Given the description of an element on the screen output the (x, y) to click on. 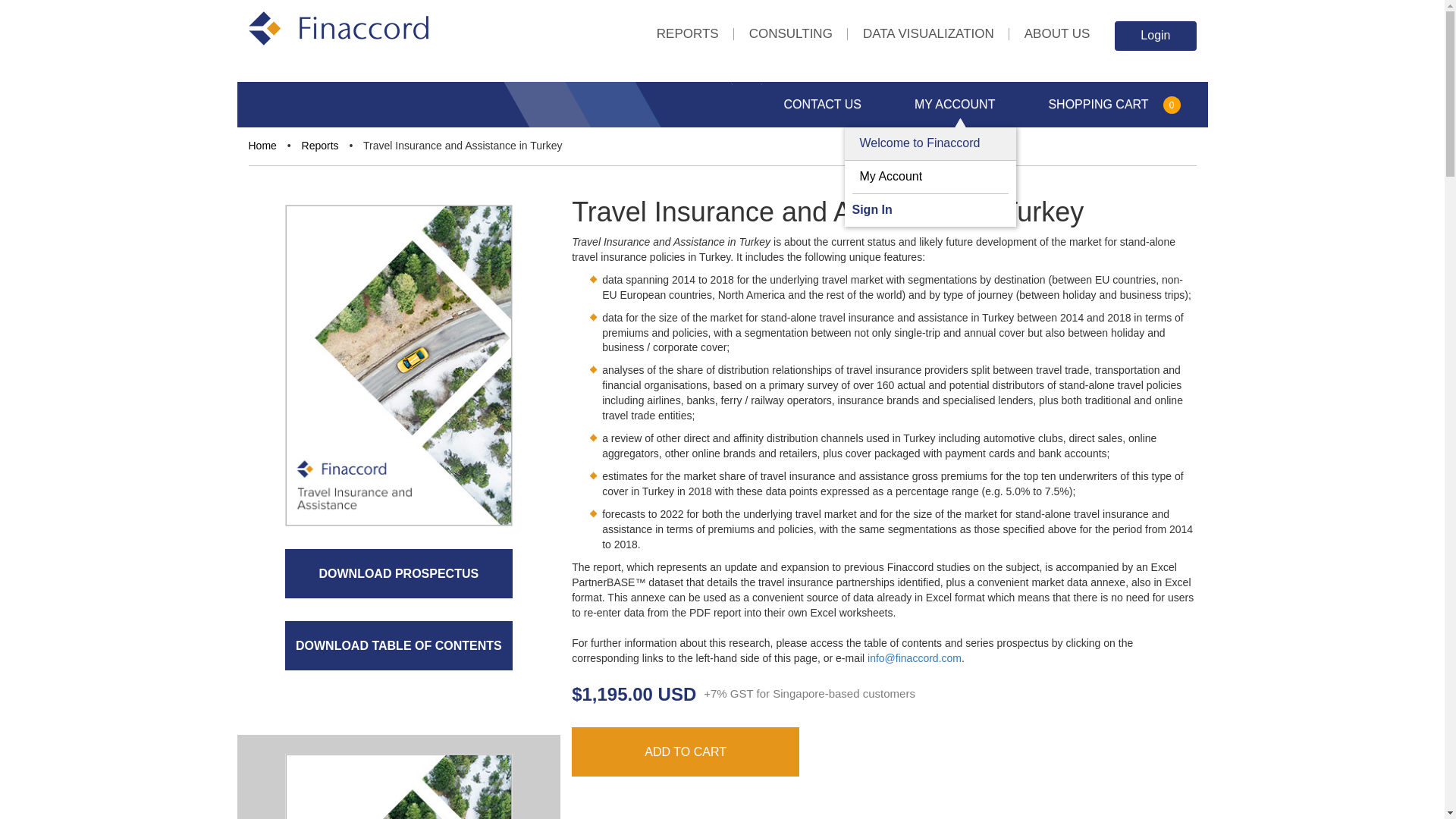
REPORTS (687, 35)
DATA VISUALIZATION (928, 35)
DOWNLOAD PROSPECTUS (399, 573)
CONTACT US (822, 104)
Home (262, 145)
CONSULTING (790, 35)
Reports (320, 145)
My Account (891, 175)
SHOPPING CART (1098, 104)
ADD TO CART (685, 751)
